Given the description of an element on the screen output the (x, y) to click on. 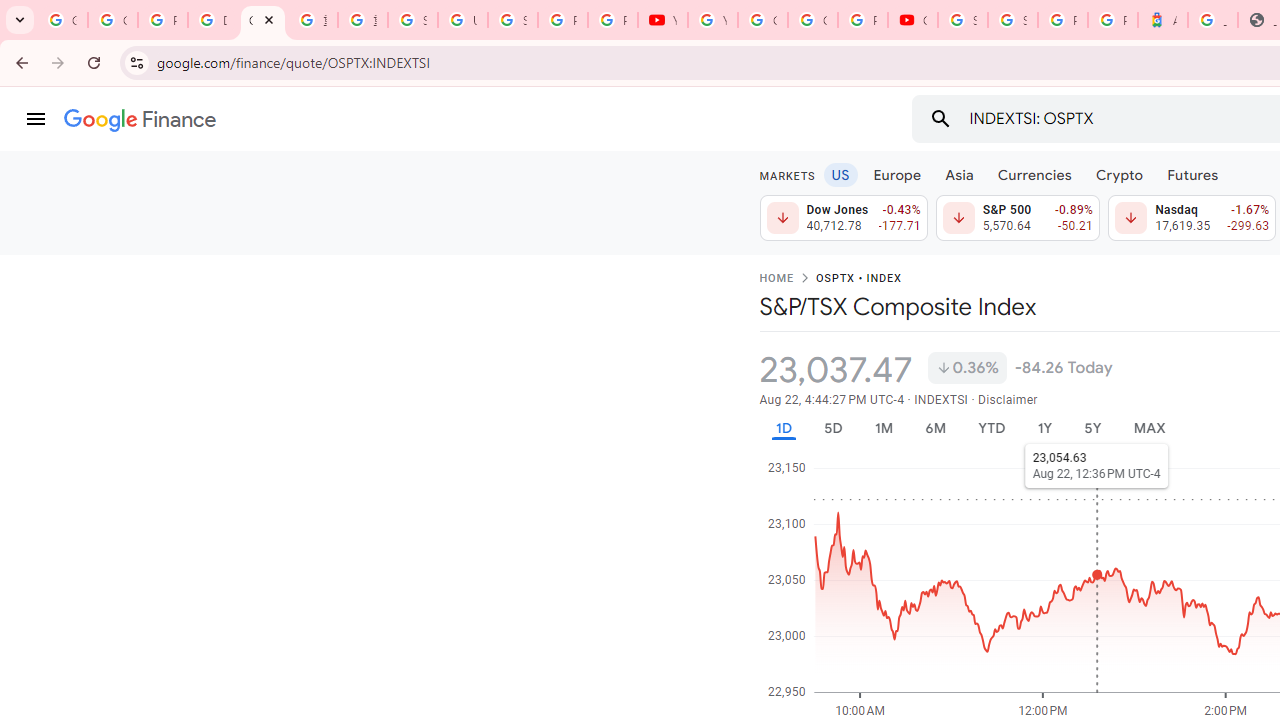
Google Workspace Admin Community (62, 20)
Finance (140, 120)
Asia (958, 174)
Create your Google Account (813, 20)
Sign in - Google Accounts (412, 20)
YouTube (662, 20)
